Given the description of an element on the screen output the (x, y) to click on. 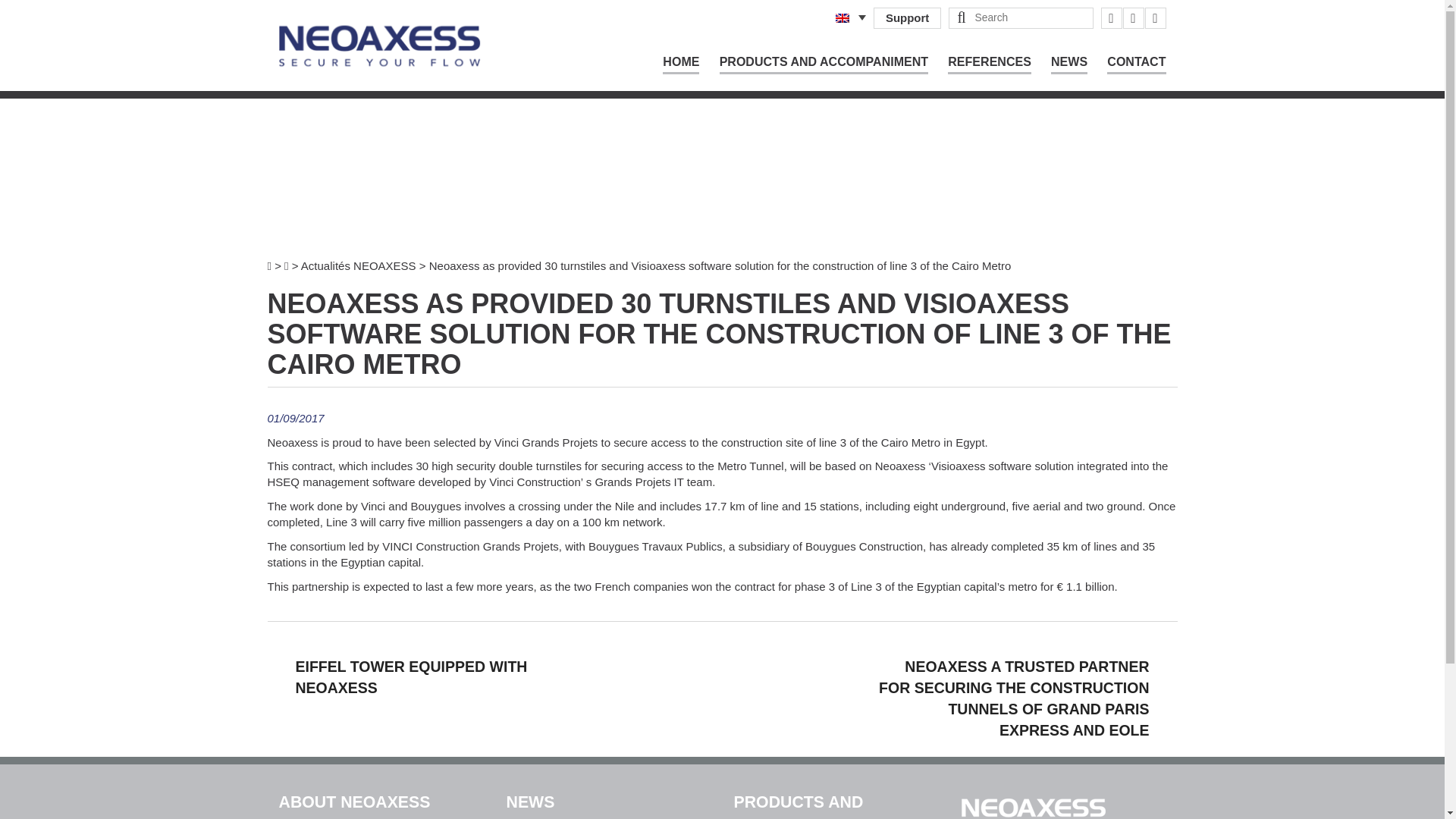
Follow Neoaxess on Twitter (1132, 17)
CONTACT (1136, 63)
NEWS (1069, 63)
Visit the Support Neoaxess (907, 17)
Support (907, 17)
HOME (680, 63)
PRODUCTS AND ACCOMPANIMENT (823, 63)
Neoaxess (381, 46)
REFERENCES (988, 63)
Follow Neoaxess on Facebook (1111, 17)
Neoaxess References (988, 63)
Submit search (960, 16)
English (841, 17)
Products and Accompaniment (823, 63)
Neoaxess - Home (381, 44)
